Given the description of an element on the screen output the (x, y) to click on. 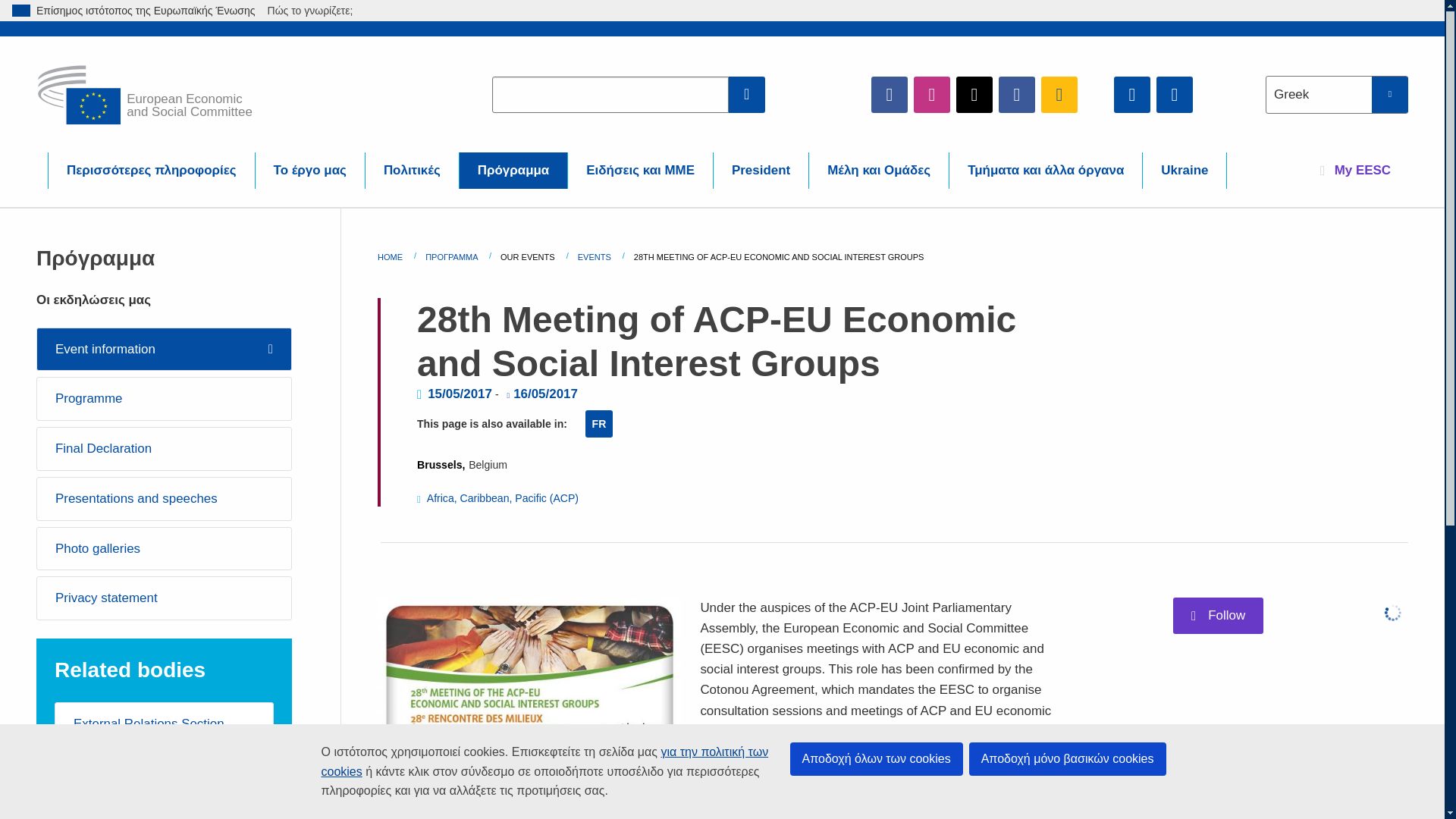
Search EESC Website (747, 94)
My EESC (1355, 170)
